Given the description of an element on the screen output the (x, y) to click on. 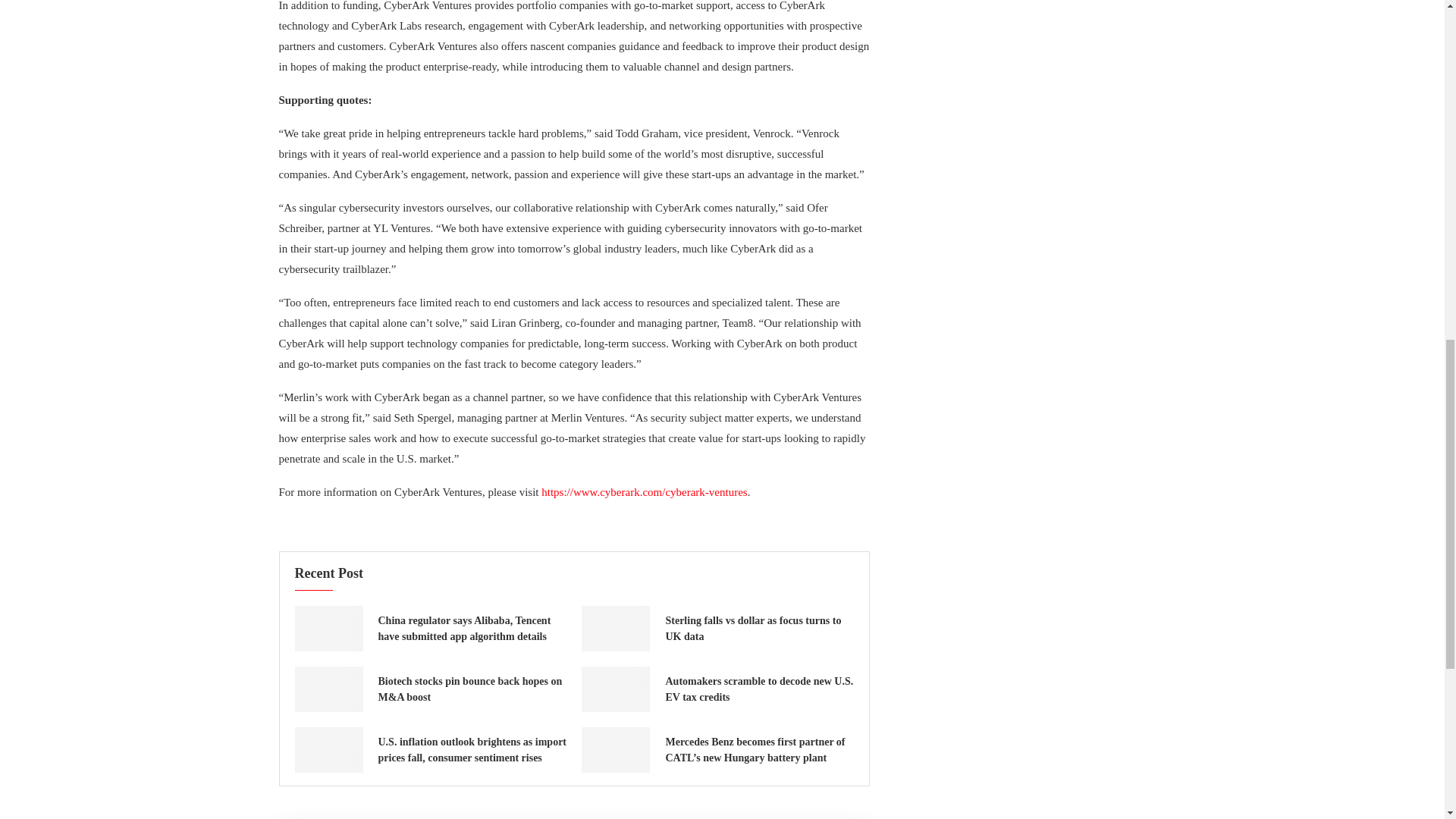
Automakers scramble to decode new U.S. EV tax credits (614, 688)
Sterling falls vs dollar as focus turns to UK data (614, 628)
